Given the description of an element on the screen output the (x, y) to click on. 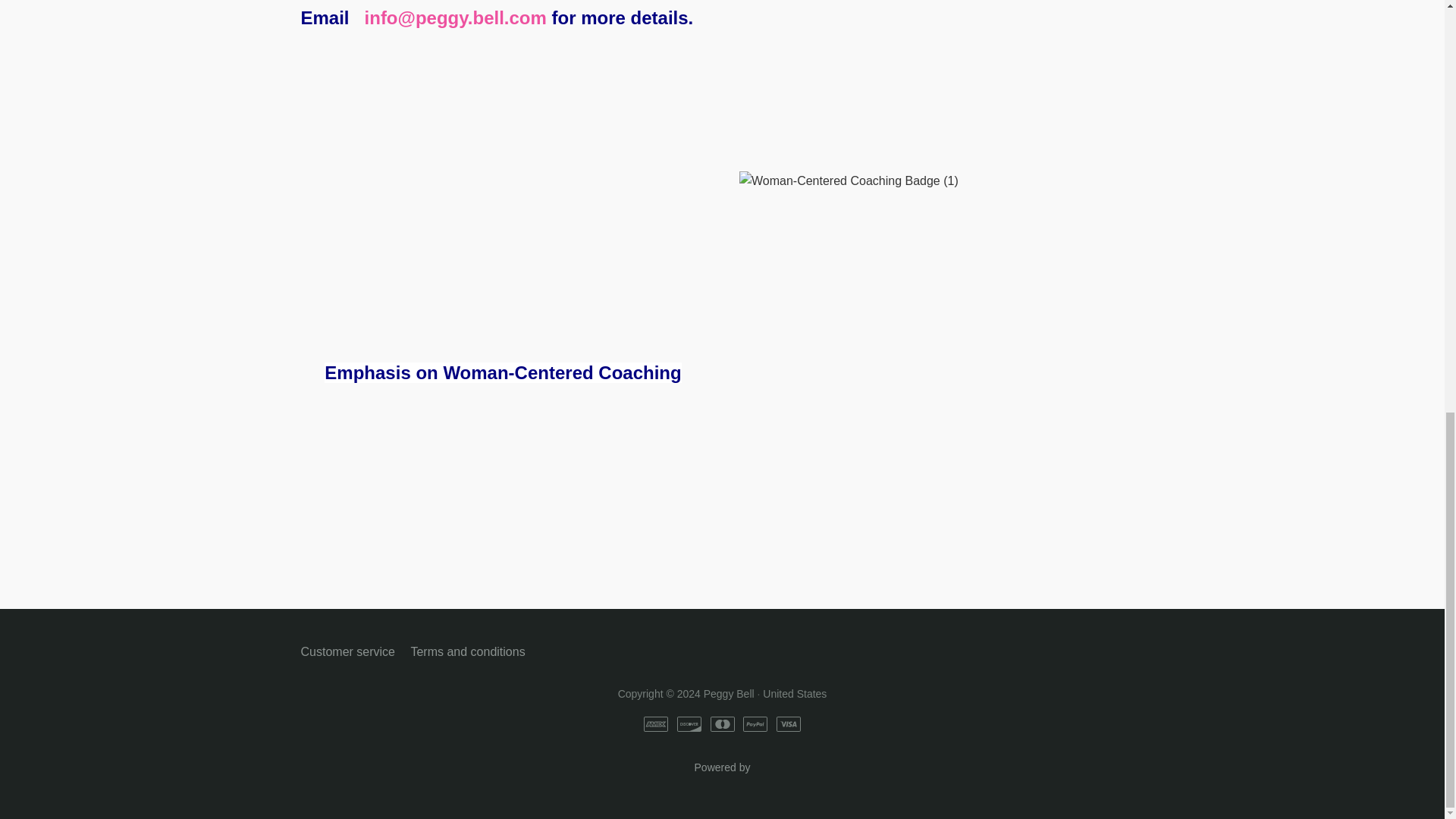
Terms and conditions (467, 651)
Customer service (720, 780)
